Given the description of an element on the screen output the (x, y) to click on. 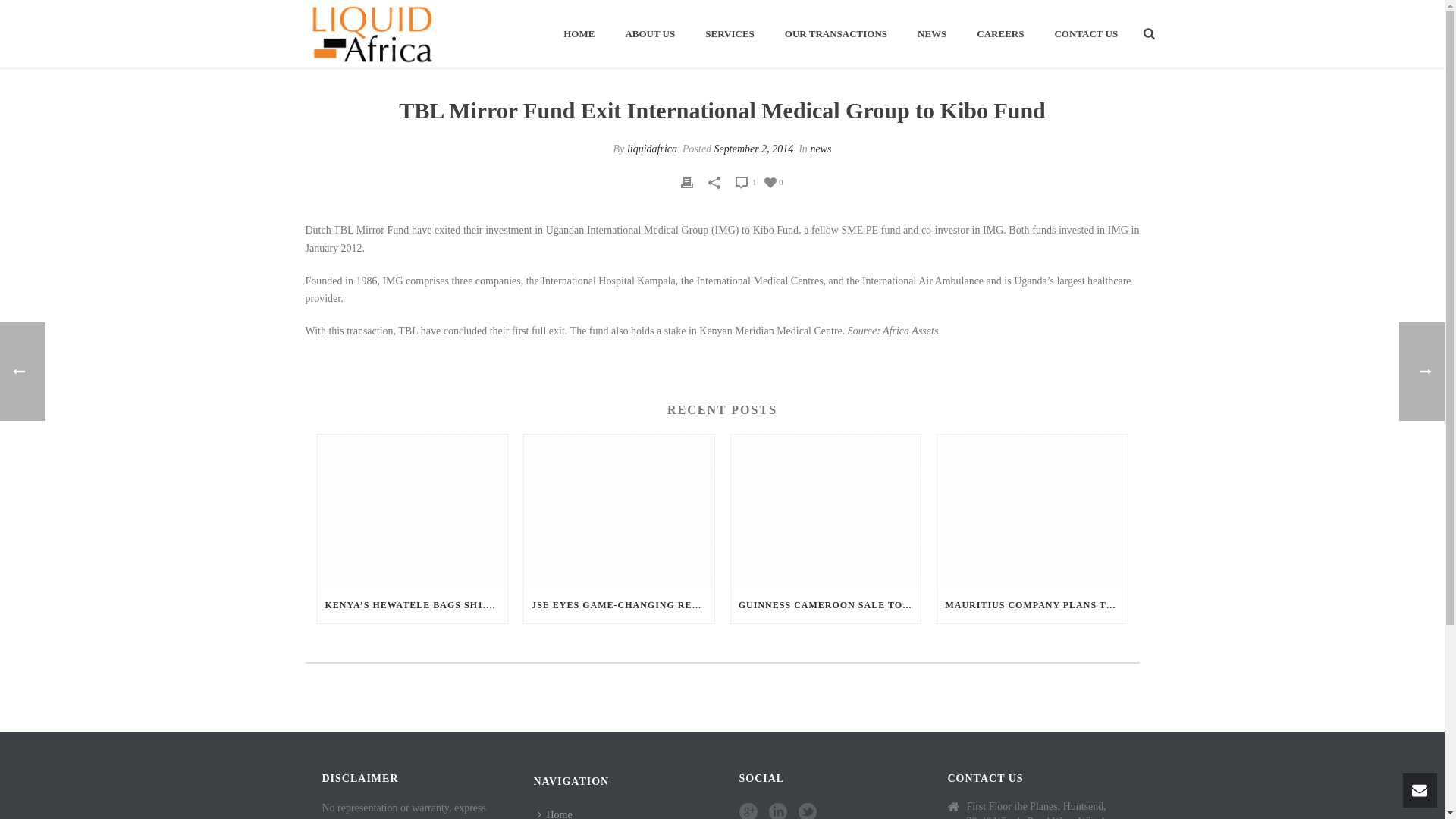
CONTACT US (1085, 34)
Mauritius company plans to buy off Cipla Quality Chemicals (1031, 510)
SERVICES (730, 34)
ABOUT US (650, 34)
Posts by liquidafrica (652, 148)
NEWS (931, 34)
HOME (579, 34)
OUR TRANSACTIONS (836, 34)
ABOUT US (650, 34)
NEWS (931, 34)
Follow Us on linkedin (777, 811)
MAURITIUS COMPANY PLANS TO BUY OFF CIPLA QUALITY CHEMICALS (1031, 605)
liquidafrica (652, 148)
CAREERS (999, 34)
